Given the description of an element on the screen output the (x, y) to click on. 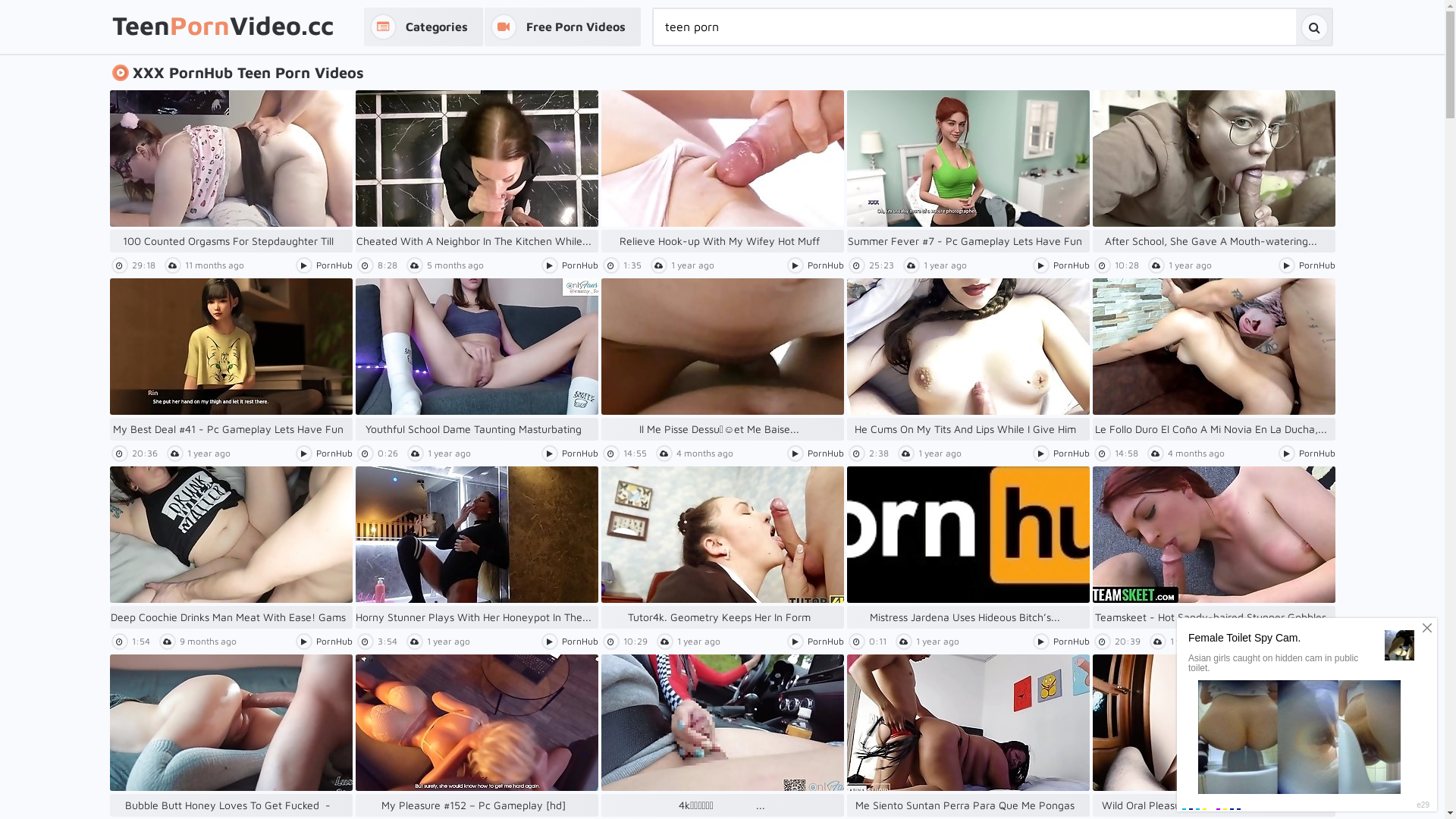
Free Porn Videos Element type: text (561, 26)
Teamskeet - Hot Sandy-haired Stunner Gobbles On... Element type: text (1213, 547)
Me Siento Suntan Perra Para Que Me Pongas En... Element type: text (967, 735)
PornHub Element type: text (824, 453)
He Cums On My Tits And Lips While I Give Him A... Element type: text (967, 359)
PornHub Element type: text (1070, 453)
My Best Deal #41 - Pc Gameplay Lets Have Fun (hd) Element type: text (230, 359)
PornHub Element type: text (579, 265)
Relieve Hook-up With My Wifey Hot Muff Element type: text (721, 171)
Deep Coochie Drinks Man Meat With Ease! Gams Up... Element type: text (230, 547)
PornHub Element type: text (1316, 265)
Youthful School Dame Taunting Masturbating Her... Element type: text (475, 359)
PornHub Element type: text (1070, 641)
PornHub Element type: text (824, 641)
PornHub Element type: text (1070, 265)
PornHub Element type: text (579, 641)
Wild Oral Pleasure For Camerist - 4k Point Of View Element type: text (1213, 735)
Categories Element type: text (423, 26)
PornHub Element type: text (1316, 641)
Summer Fever #7 - Pc Gameplay Lets Have Fun (hd) Element type: text (967, 171)
Horny Stunner Plays With Her Honeypot In The... Element type: text (475, 547)
PornHub Element type: text (333, 265)
PornHub Element type: text (1316, 453)
100 Counted Orgasms For Stepdaughter Till She... Element type: text (230, 171)
After School, She Gave A Mouth-watering... Element type: text (1213, 171)
Tutor4k. Geometry Keeps Her In Form Element type: text (721, 547)
Find Element type: hover (1312, 26)
PornHub Element type: text (333, 453)
Cheated With A Neighbor In The Kitchen While... Element type: text (475, 171)
PornHub Element type: text (824, 265)
Bubble Butt Honey Loves To Get Fucked  - Lush... Element type: text (230, 735)
PornHub Element type: text (333, 641)
TeenPornVideo.cc Element type: text (222, 26)
PornHub Element type: text (579, 453)
